Given the description of an element on the screen output the (x, y) to click on. 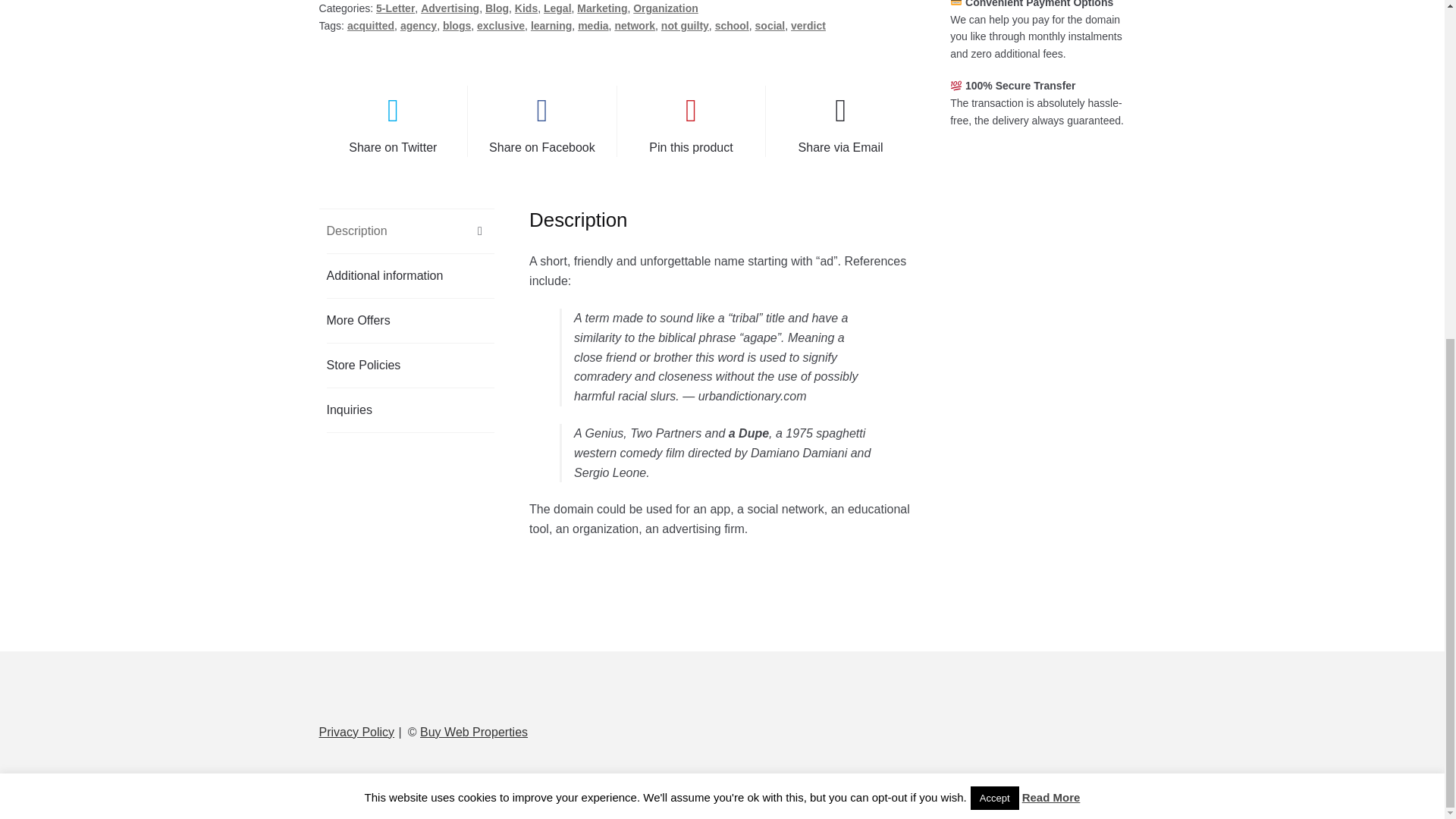
Blog (496, 8)
Kids (526, 8)
Advertising (449, 8)
5-Letter (394, 8)
